Given the description of an element on the screen output the (x, y) to click on. 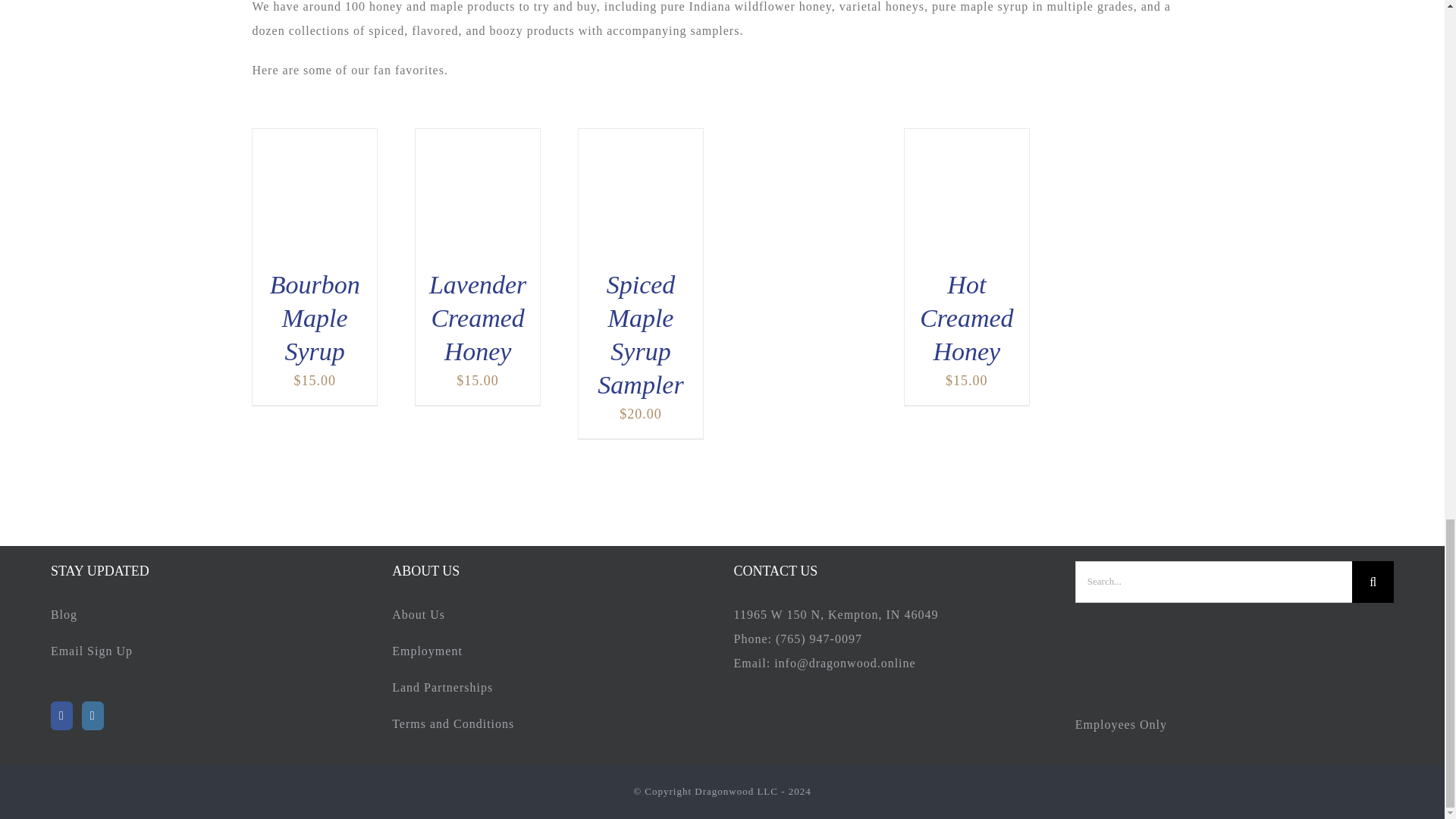
Facebook (61, 715)
Instagram (92, 715)
